Given the description of an element on the screen output the (x, y) to click on. 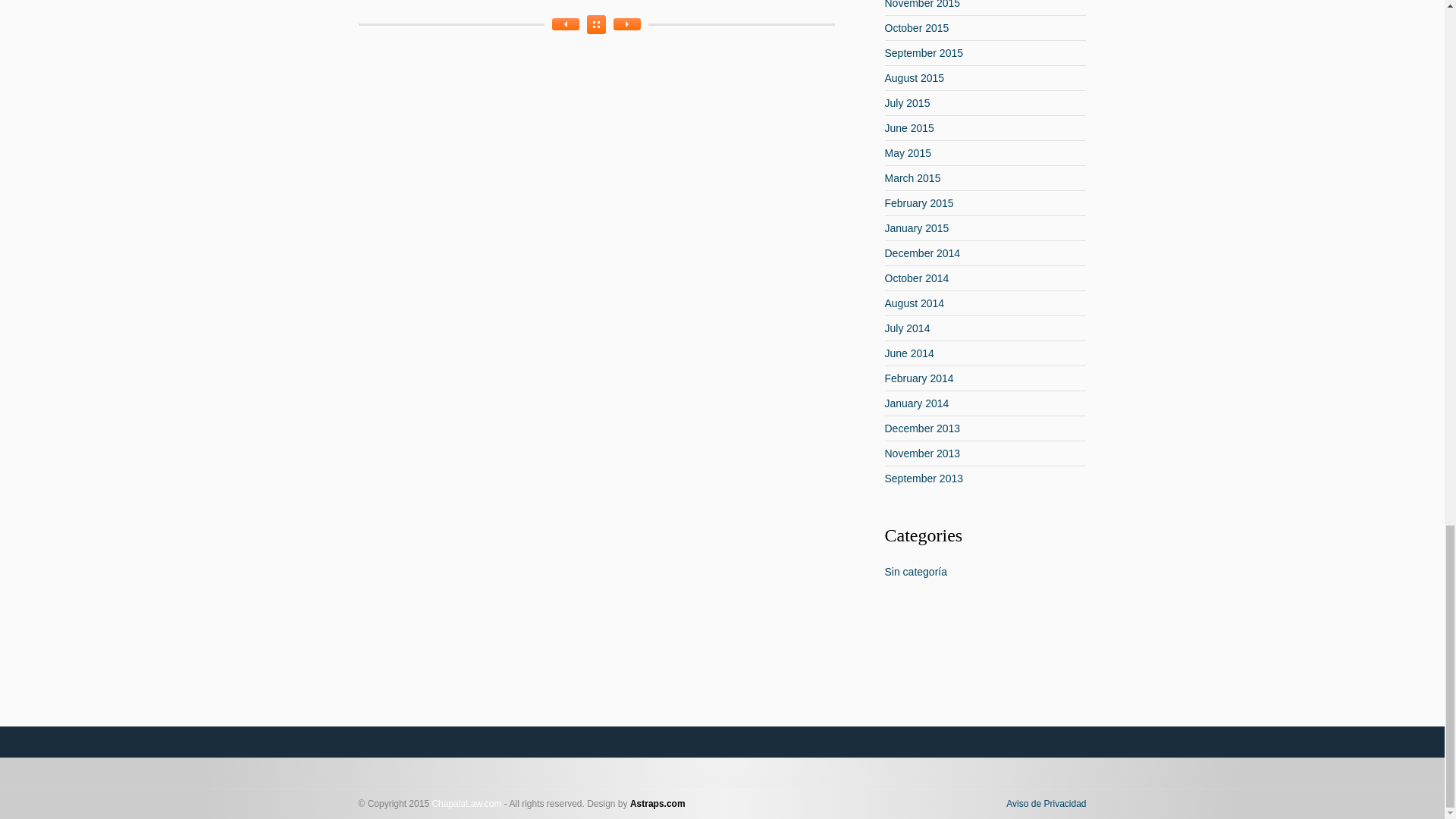
All Posts (595, 24)
2017 Notarial Tax lowered (626, 24)
